Given the description of an element on the screen output the (x, y) to click on. 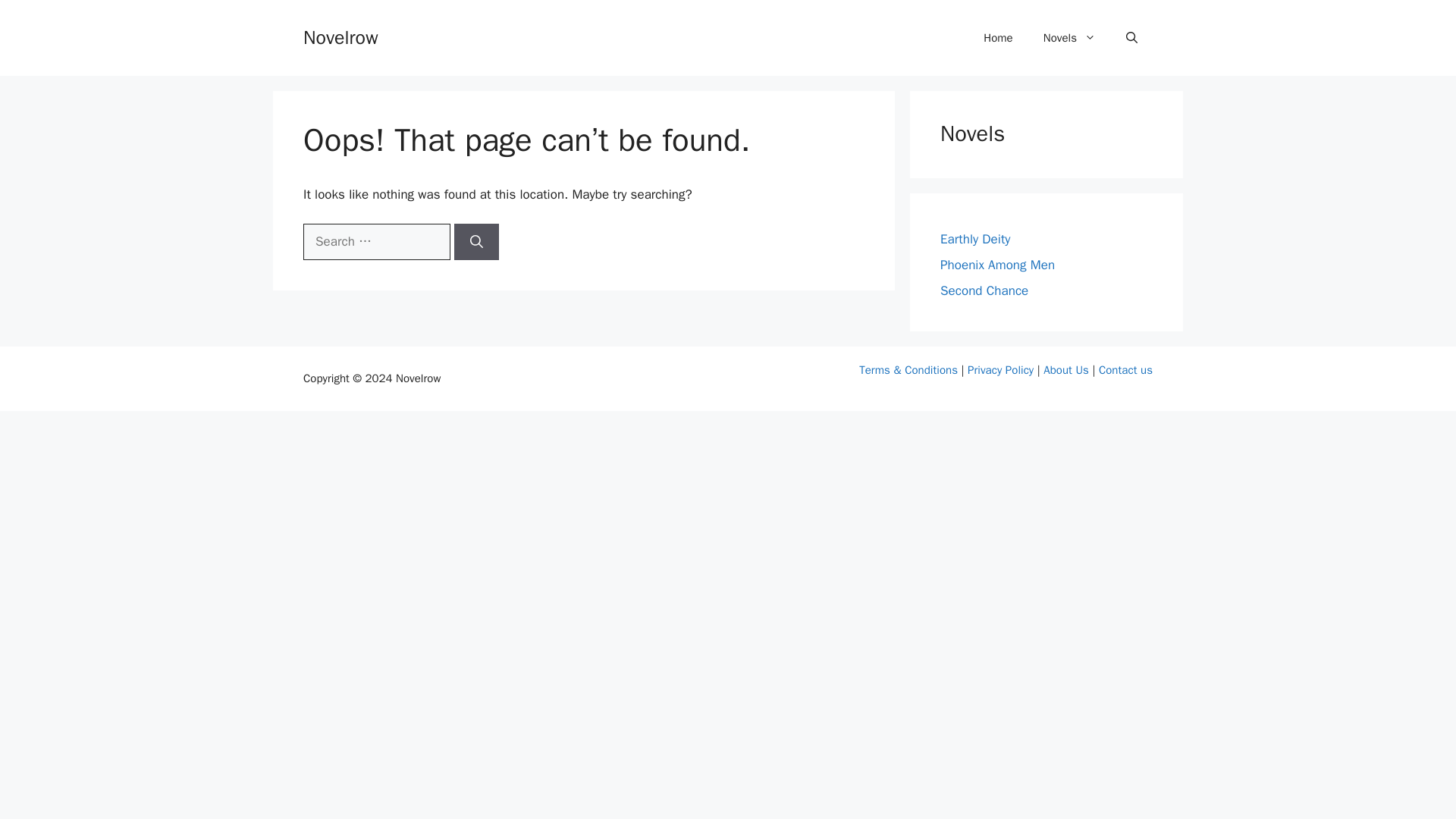
Contact us (1126, 369)
Earthly Deity (975, 238)
Second Chance (983, 290)
About Us (1066, 369)
Home (997, 37)
Phoenix Among Men (997, 264)
Privacy Policy (1000, 369)
Novels (1068, 37)
Novelrow (340, 37)
Search for: (375, 241)
